Given the description of an element on the screen output the (x, y) to click on. 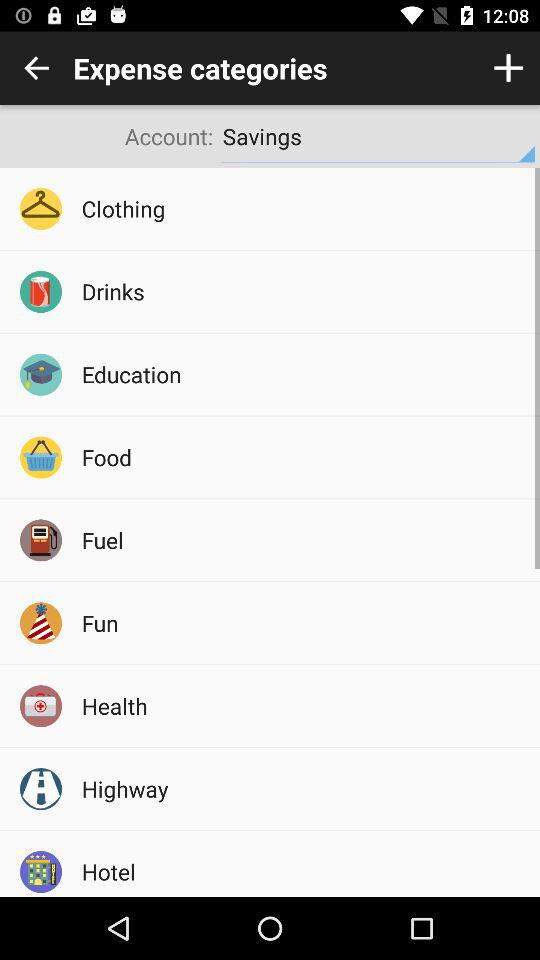
select icon below the fun (303, 705)
